Given the description of an element on the screen output the (x, y) to click on. 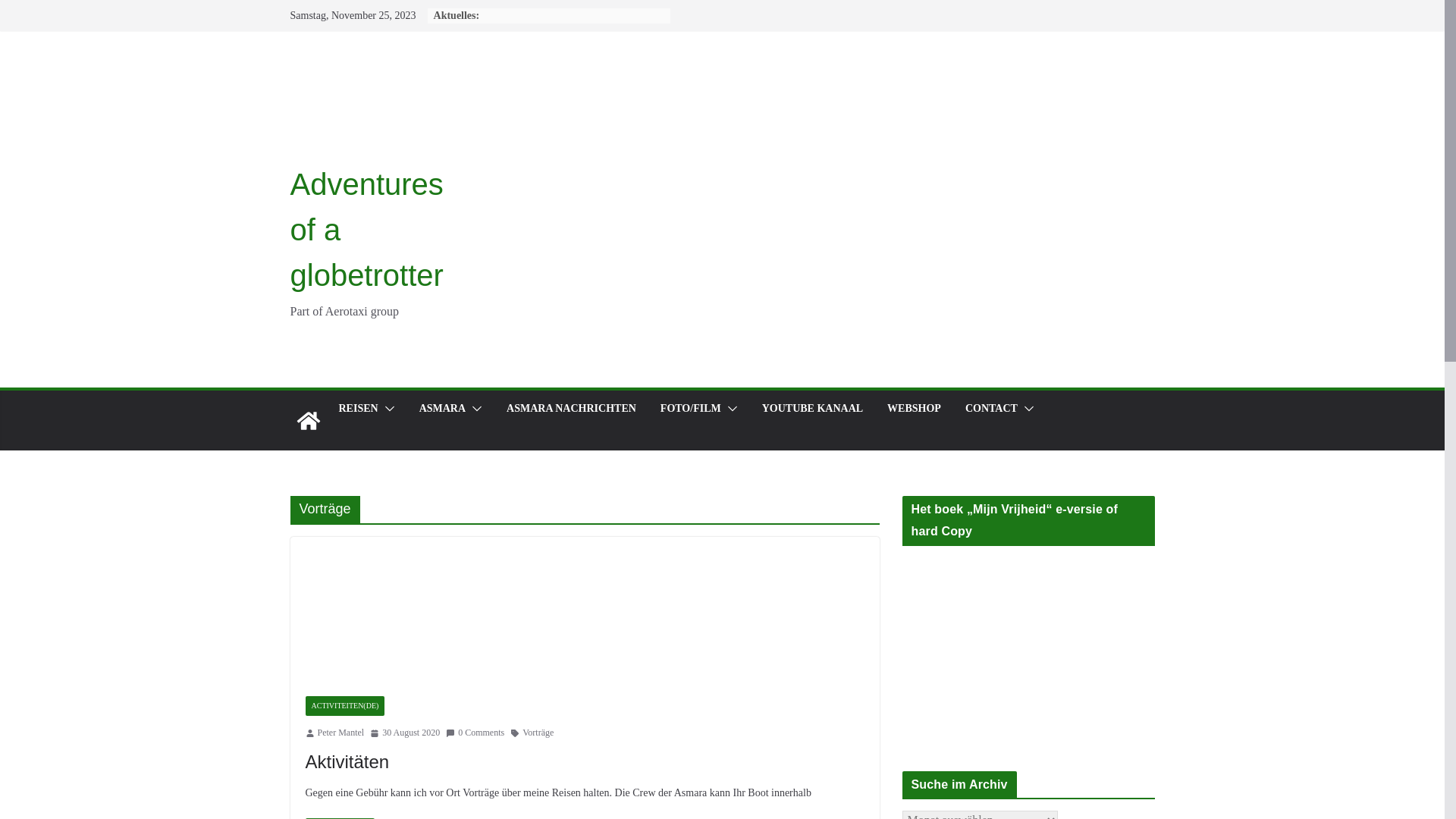
REISEN Element type: text (357, 408)
FOTO/FILM Element type: text (690, 408)
Adventures of a globetrotter Element type: text (365, 229)
WEBSHOP Element type: text (914, 408)
ACTIVITEITEN(DE) Element type: text (344, 705)
0 Comments Element type: text (474, 732)
Peter Mantel Element type: text (340, 732)
CONTACT Element type: text (991, 408)
Adventures of a globetrotter Element type: hover (307, 420)
30 August 2020 Element type: text (404, 732)
YOUTUBE KANAAL Element type: text (812, 408)
ASMARA NACHRICHTEN Element type: text (571, 408)
ASMARA Element type: text (442, 408)
